Given the description of an element on the screen output the (x, y) to click on. 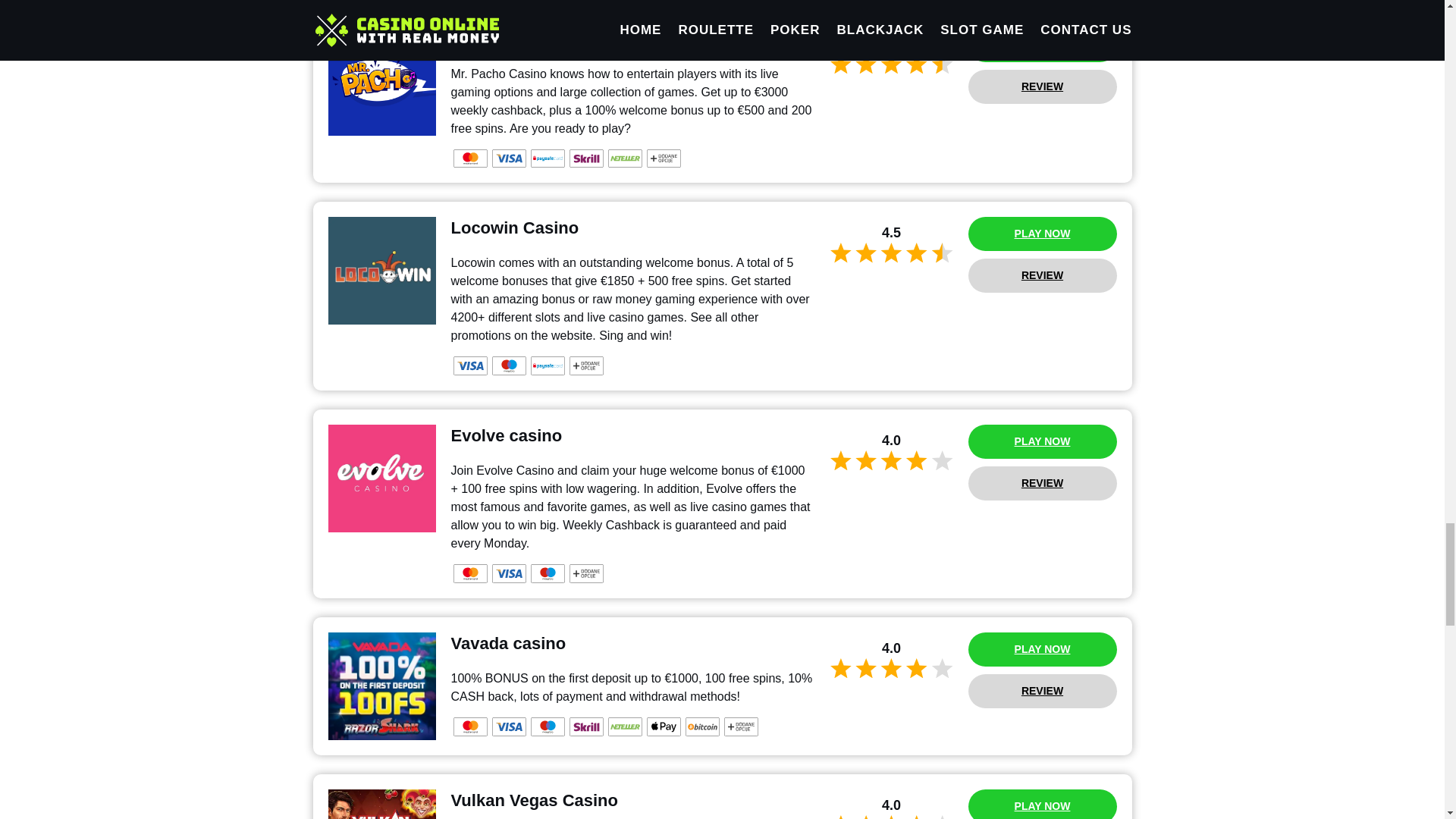
REVIEW (1042, 86)
PLAY NOW (1042, 44)
